Given the description of an element on the screen output the (x, y) to click on. 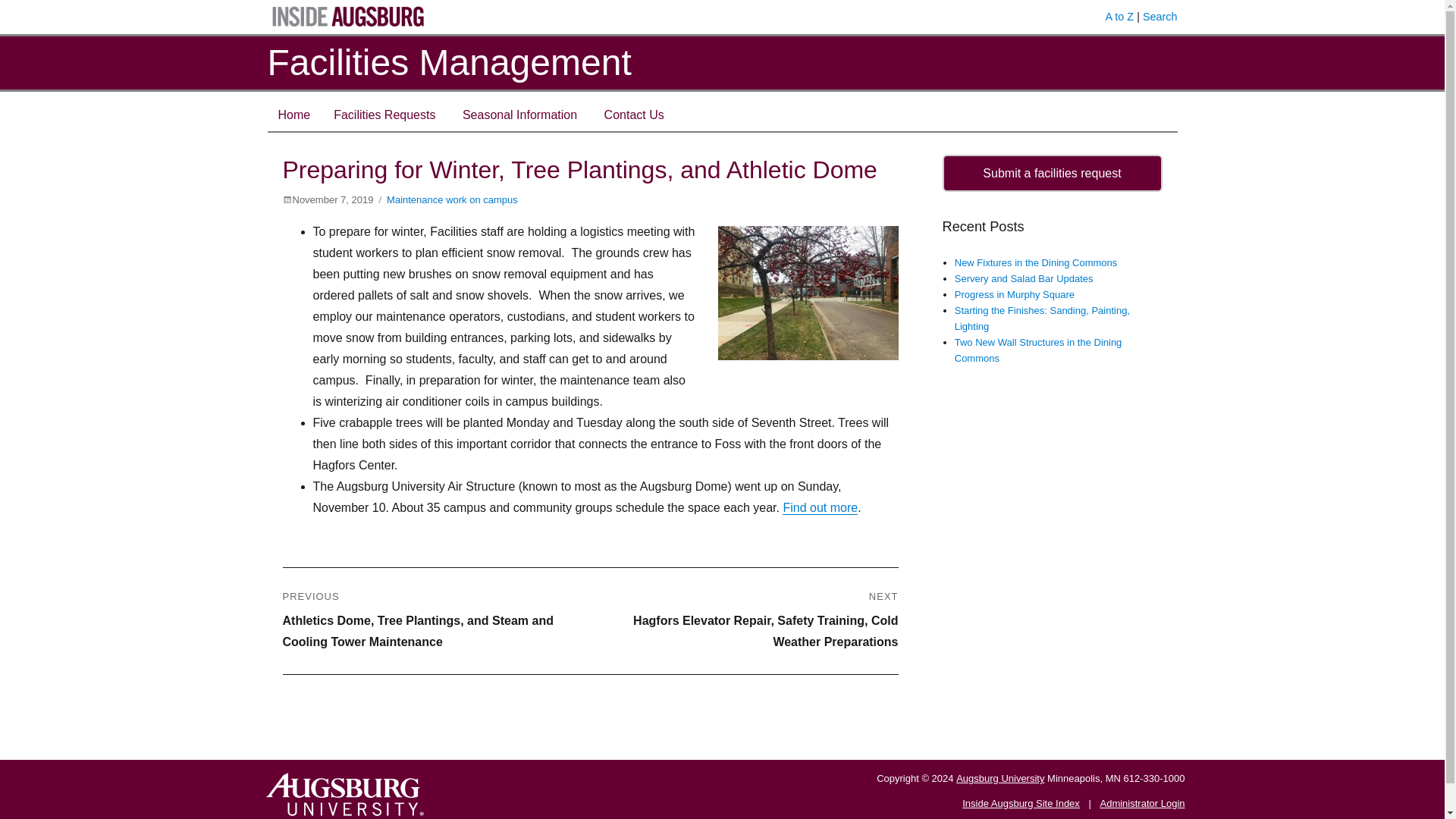
New Fixtures in the Dining Commons (1036, 262)
Search (1159, 16)
Home (293, 115)
A to Z (1119, 16)
Maintenance work on campus (452, 199)
Servery and Salad Bar Updates (1024, 278)
Augsburg University (999, 778)
Two New Wall Structures in the Dining Commons (1038, 349)
Facilities Management (448, 62)
